Given the description of an element on the screen output the (x, y) to click on. 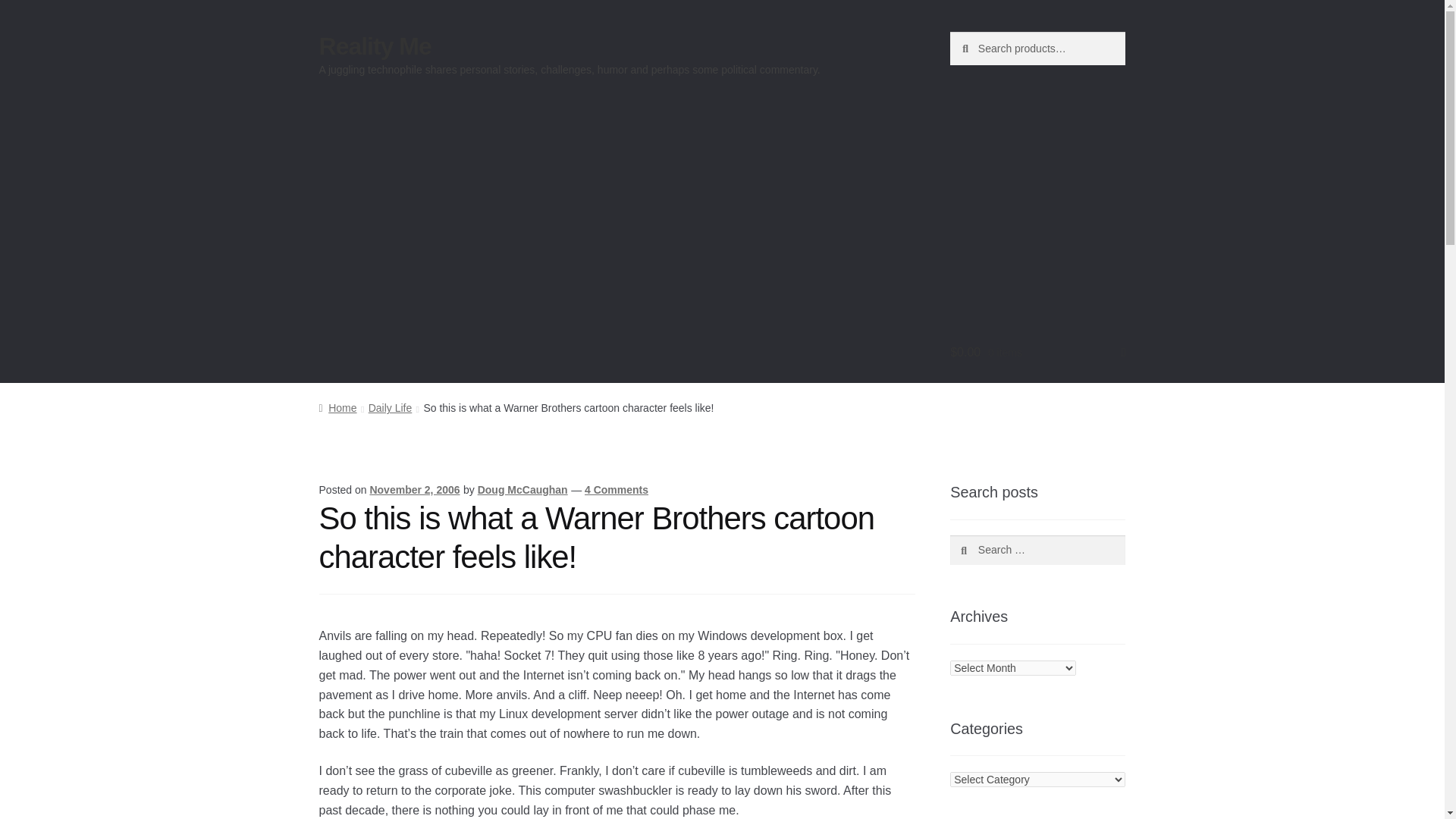
View your shopping cart (1037, 352)
Daily Life (390, 408)
Doug McCaughan (522, 490)
Reality Me (374, 45)
November 2, 2006 (414, 490)
Home (337, 408)
